Given the description of an element on the screen output the (x, y) to click on. 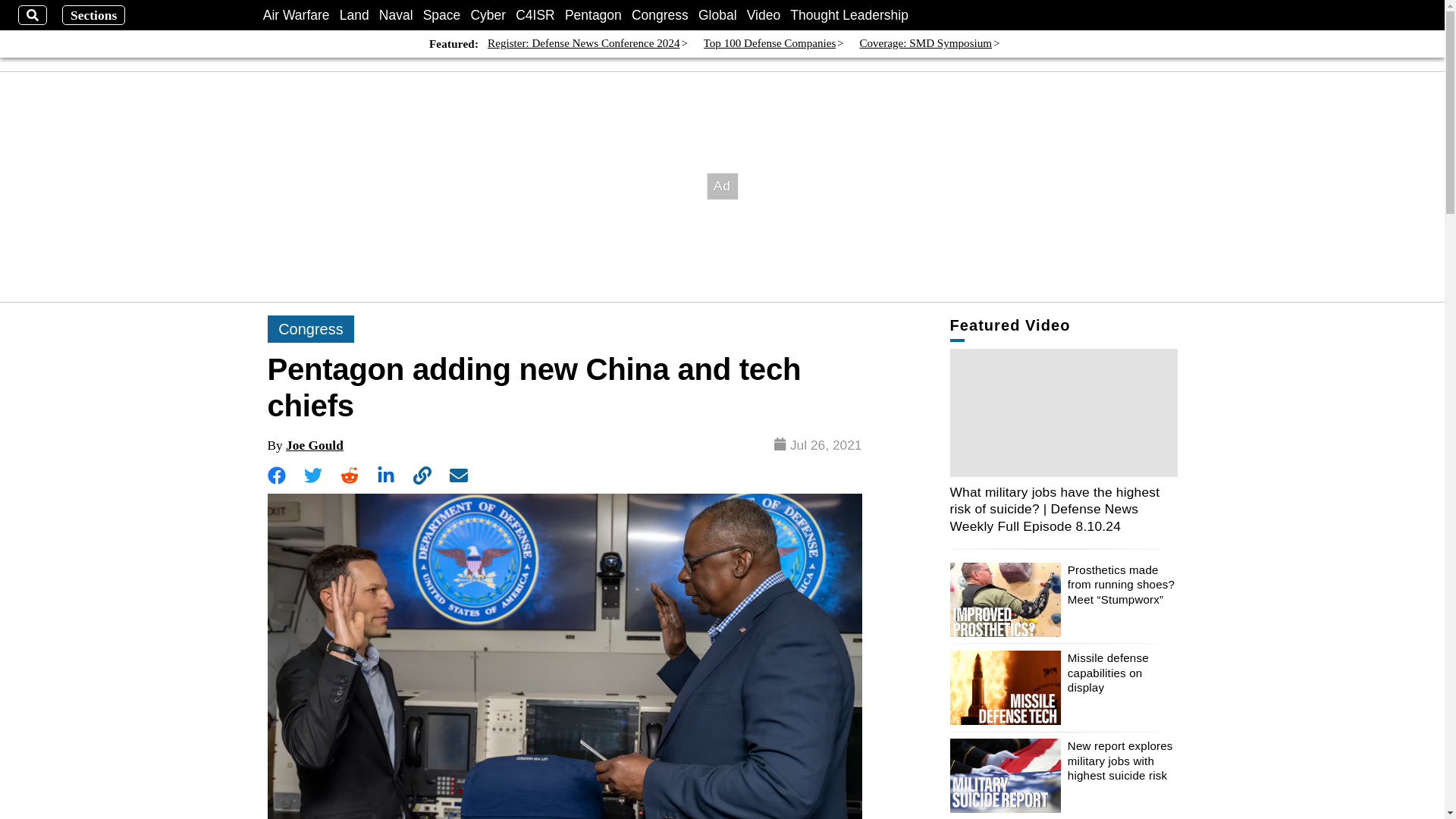
Pentagon (592, 14)
Land (354, 14)
Naval (395, 14)
Space (442, 14)
Sections (93, 14)
Air Warfare (296, 14)
Congress (659, 14)
Global (717, 14)
Thought Leadership (849, 14)
Video (763, 14)
